Given the description of an element on the screen output the (x, y) to click on. 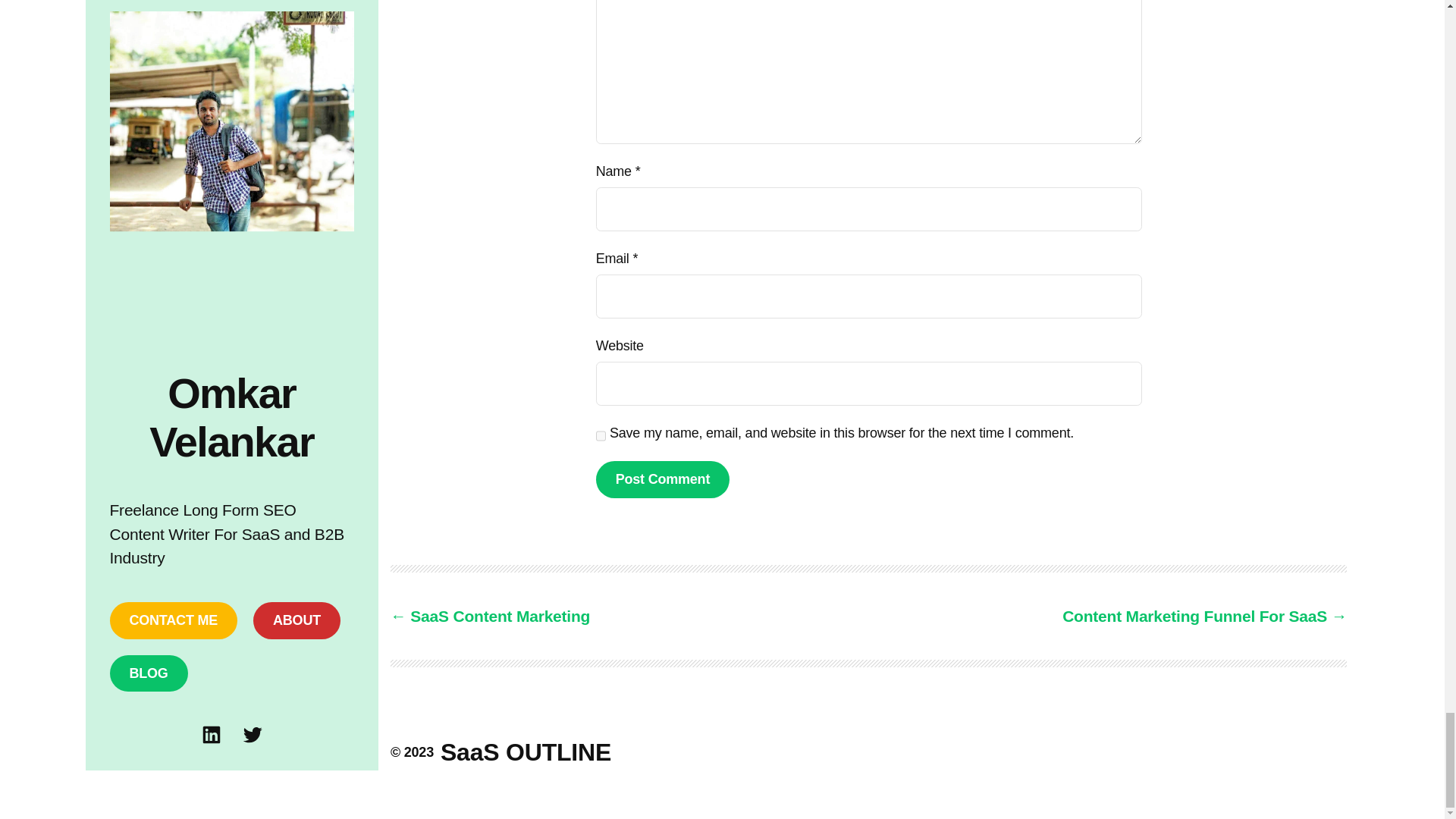
Post Comment (662, 479)
SaaS OUTLINE (526, 751)
Post Comment (662, 479)
Content Marketing Funnel For SaaS (1204, 615)
SaaS Content Marketing (489, 615)
